Given the description of an element on the screen output the (x, y) to click on. 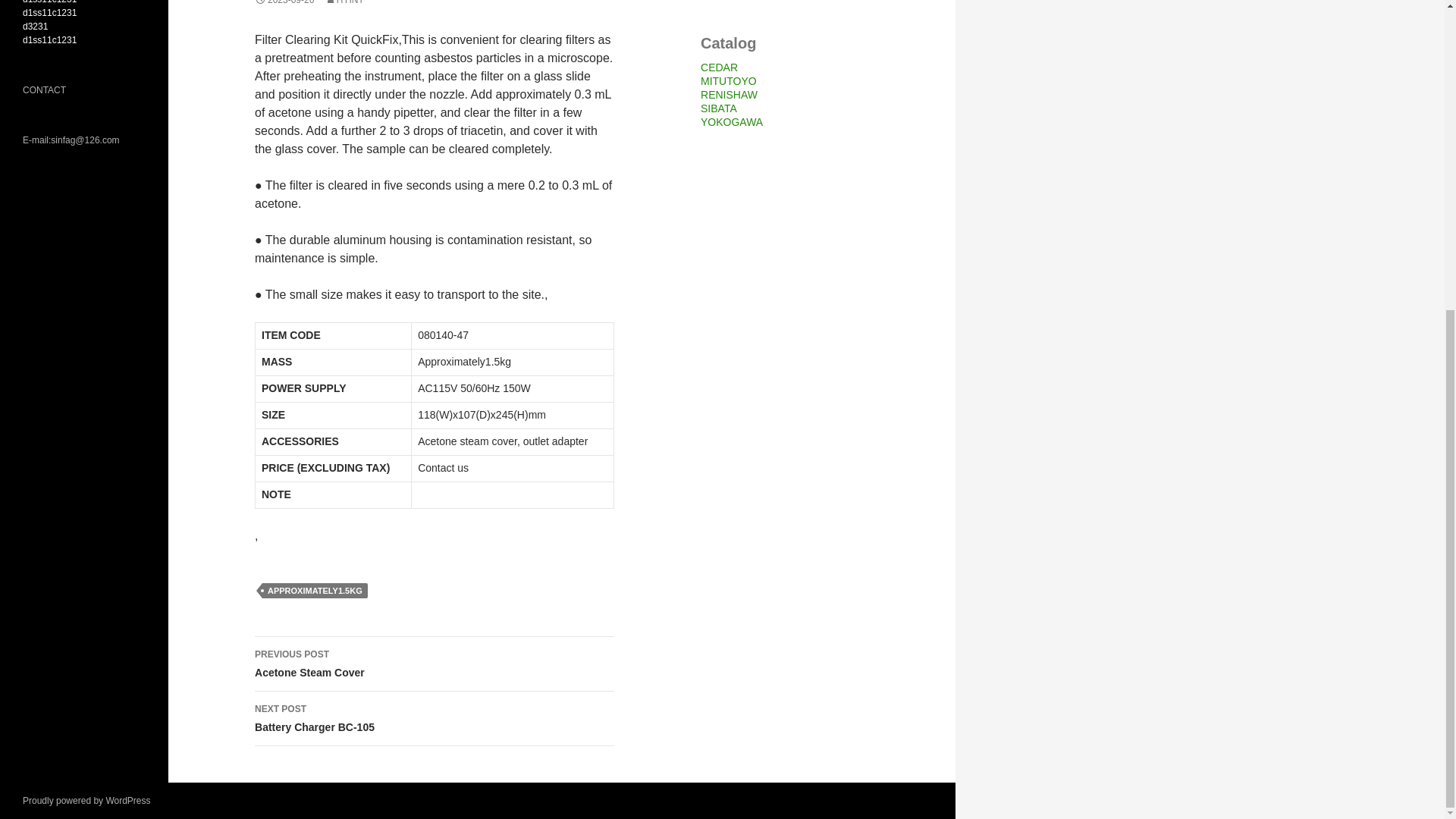
SIBATA (718, 108)
d1ss11c1231 (50, 2)
CEDAR (719, 67)
d1ss11c1231 (50, 12)
d1ss11c1231 (50, 40)
HYINT (434, 664)
d3231 (344, 2)
YOKOGAWA (35, 26)
Proudly powered by WordPress (731, 121)
